Given the description of an element on the screen output the (x, y) to click on. 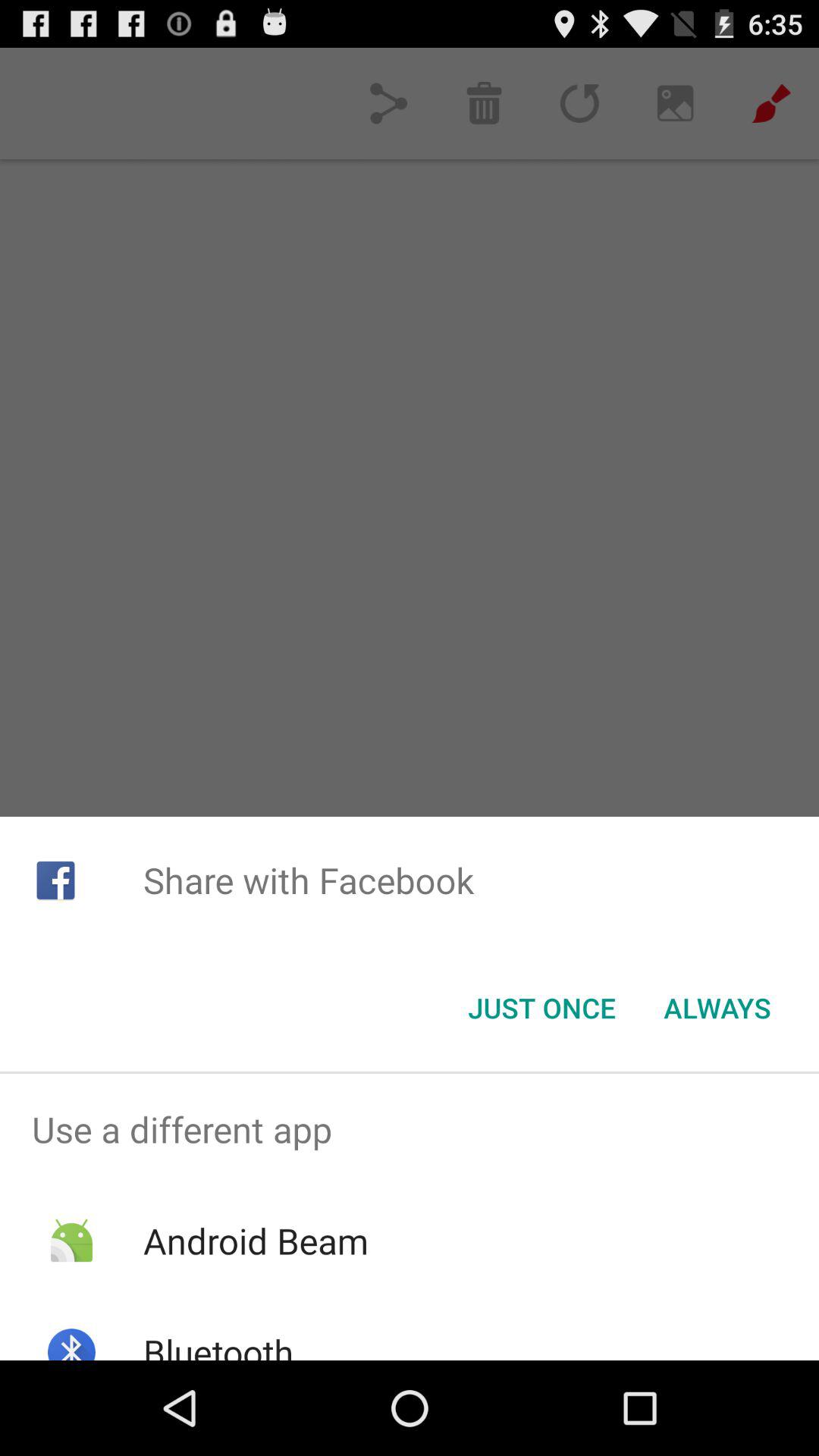
select bluetooth app (218, 1344)
